Given the description of an element on the screen output the (x, y) to click on. 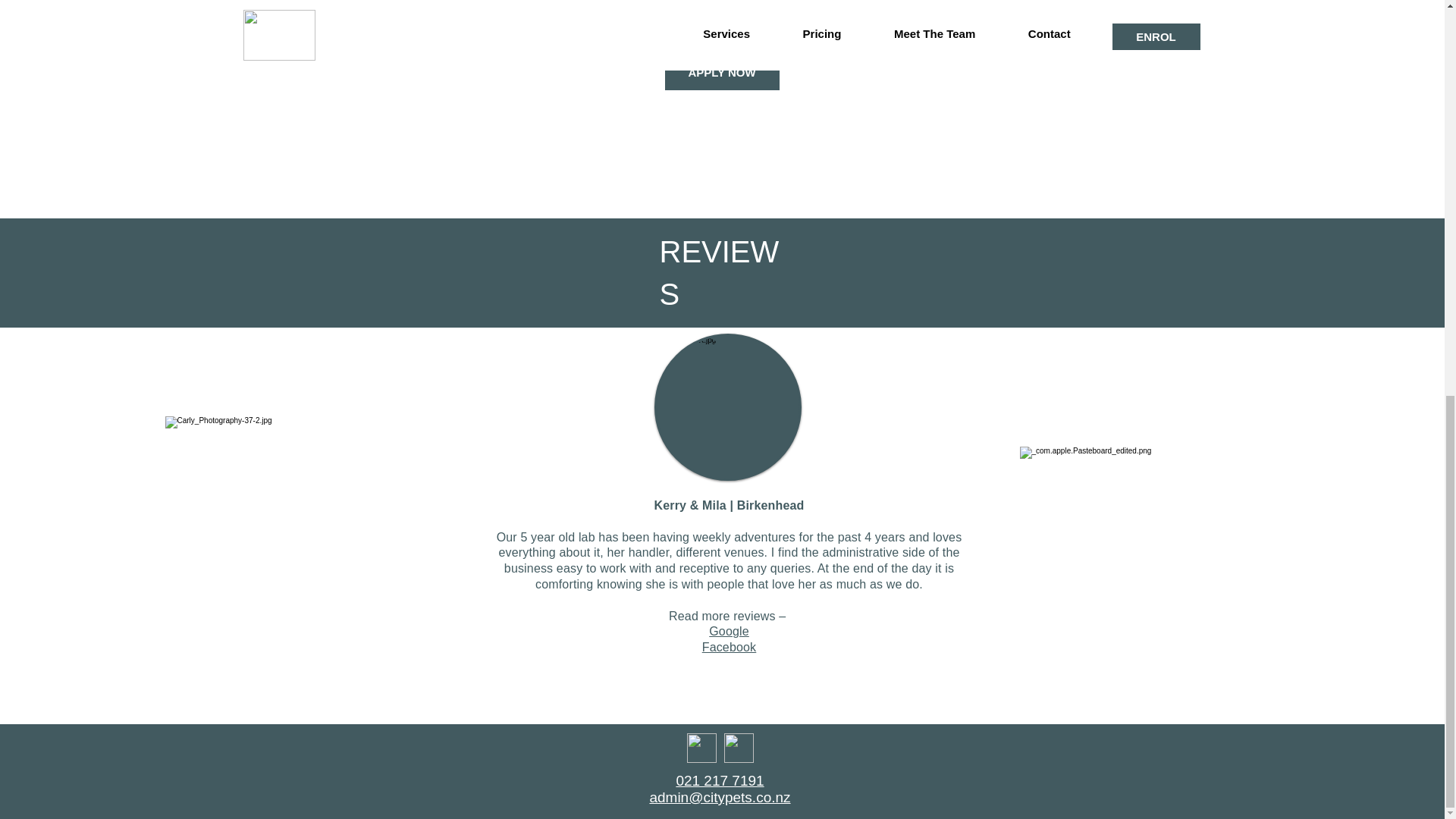
APPLY NOW (720, 72)
021 217 7191 (718, 780)
Facebook (729, 646)
Google (729, 631)
